Given the description of an element on the screen output the (x, y) to click on. 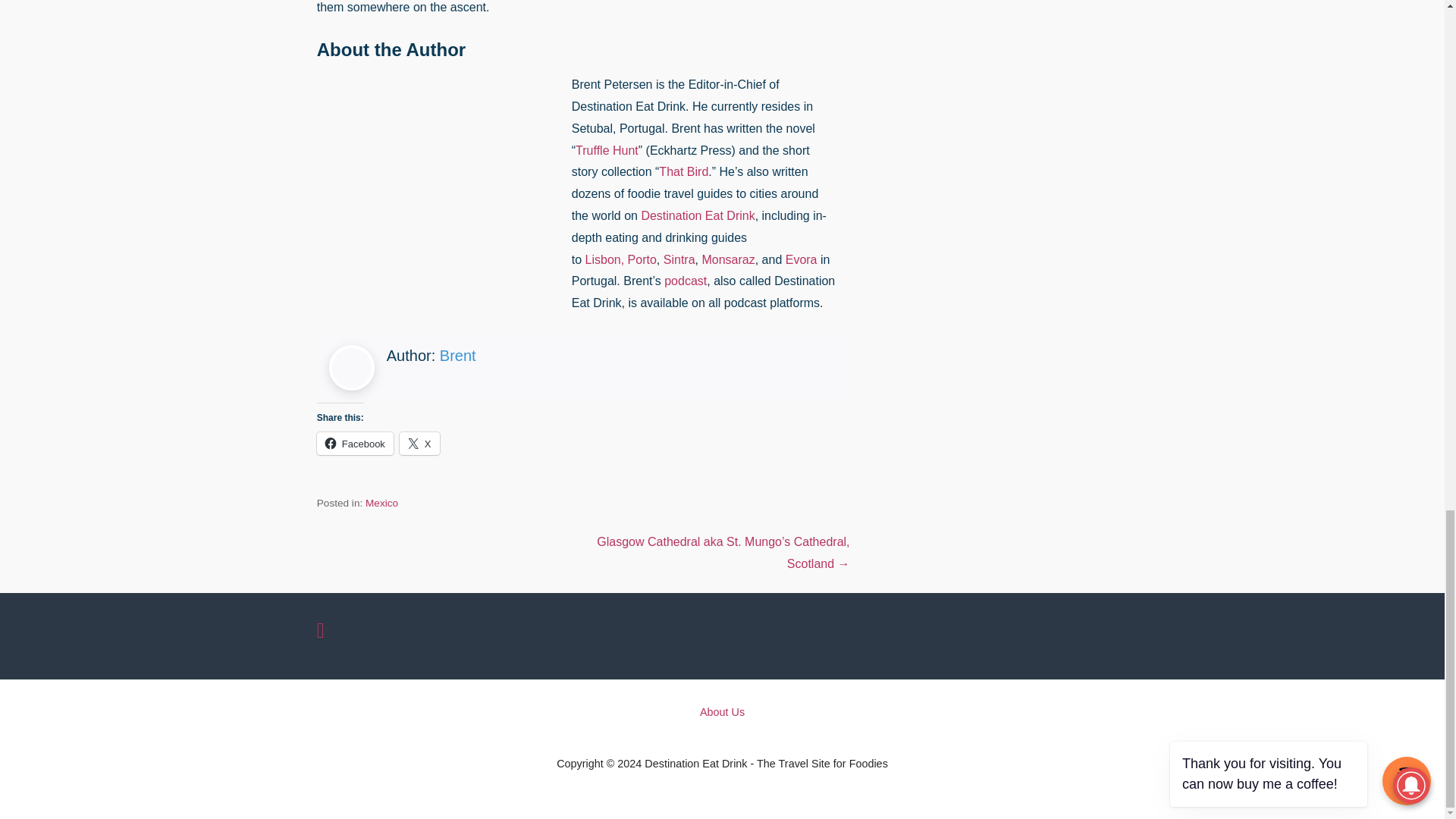
Click to share on X (418, 443)
Sintra (679, 259)
Lisbon, (604, 259)
Destination Eat Drink (697, 215)
Monsaraz (727, 259)
Porto (641, 259)
That Bird (683, 171)
Click to share on Facebook (355, 443)
Truffle Hunt (607, 150)
